Given the description of an element on the screen output the (x, y) to click on. 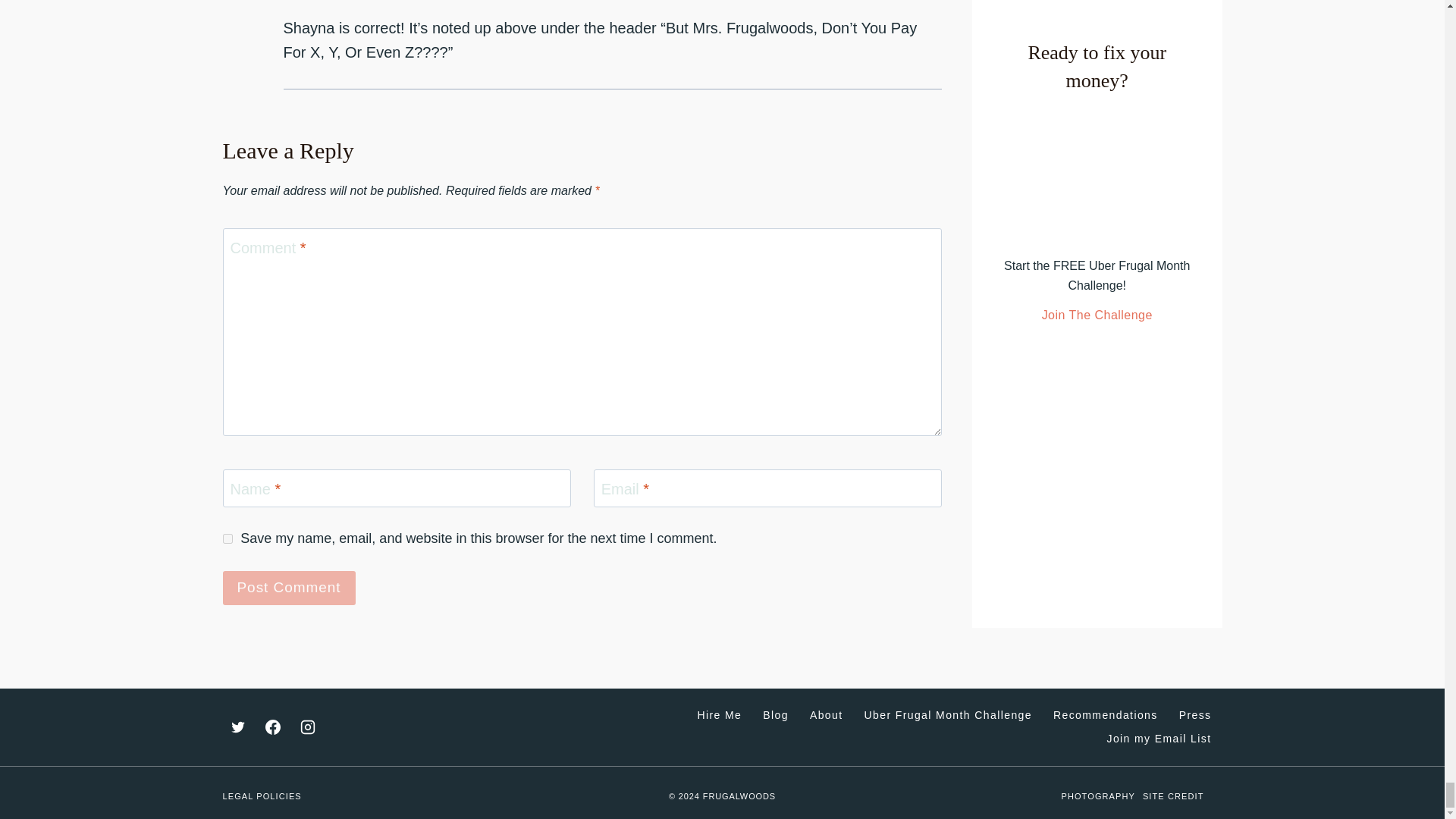
yes (227, 538)
Post Comment (288, 588)
